Given the description of an element on the screen output the (x, y) to click on. 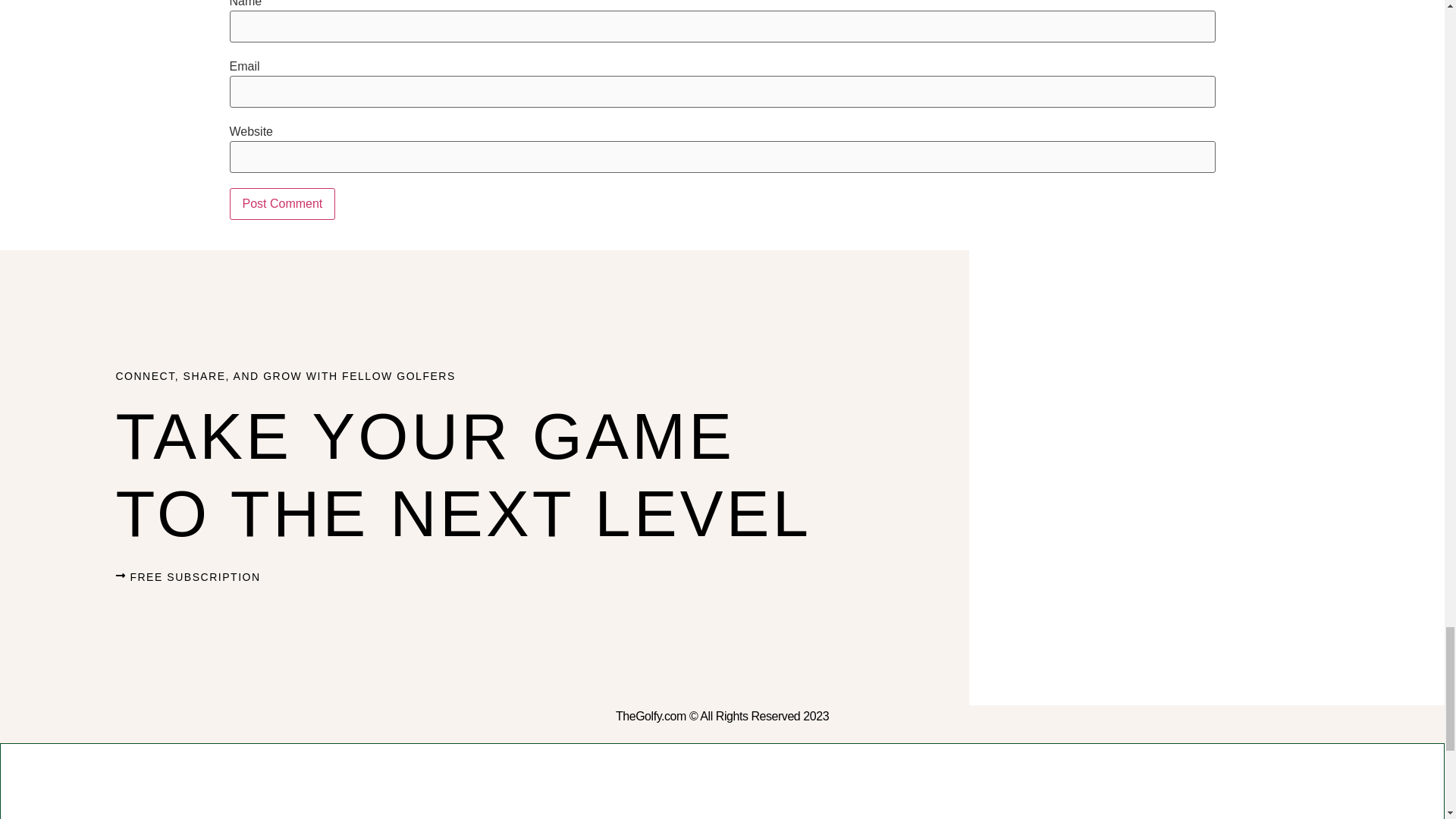
FREE SUBSCRIPTION (187, 576)
Post Comment (281, 204)
Post Comment (281, 204)
